Given the description of an element on the screen output the (x, y) to click on. 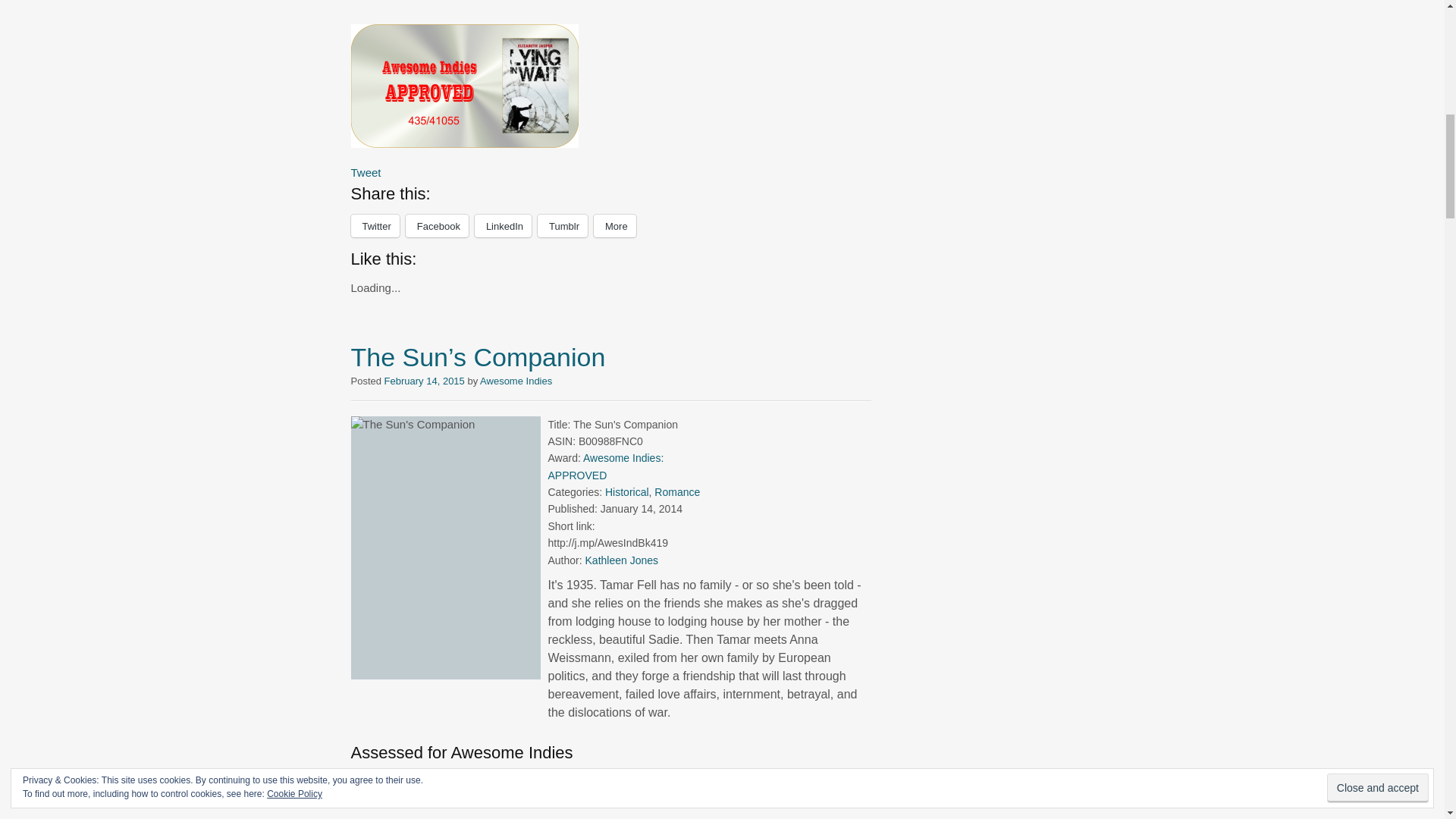
LinkedIn (502, 225)
Twitter (374, 225)
Tweet (365, 172)
Click to share on Facebook (437, 225)
View all posts by Awesome Indies (515, 380)
Click to share on LinkedIn (502, 225)
Click to share on Tumblr (562, 225)
Click to share on Twitter (374, 225)
Facebook (437, 225)
